Given the description of an element on the screen output the (x, y) to click on. 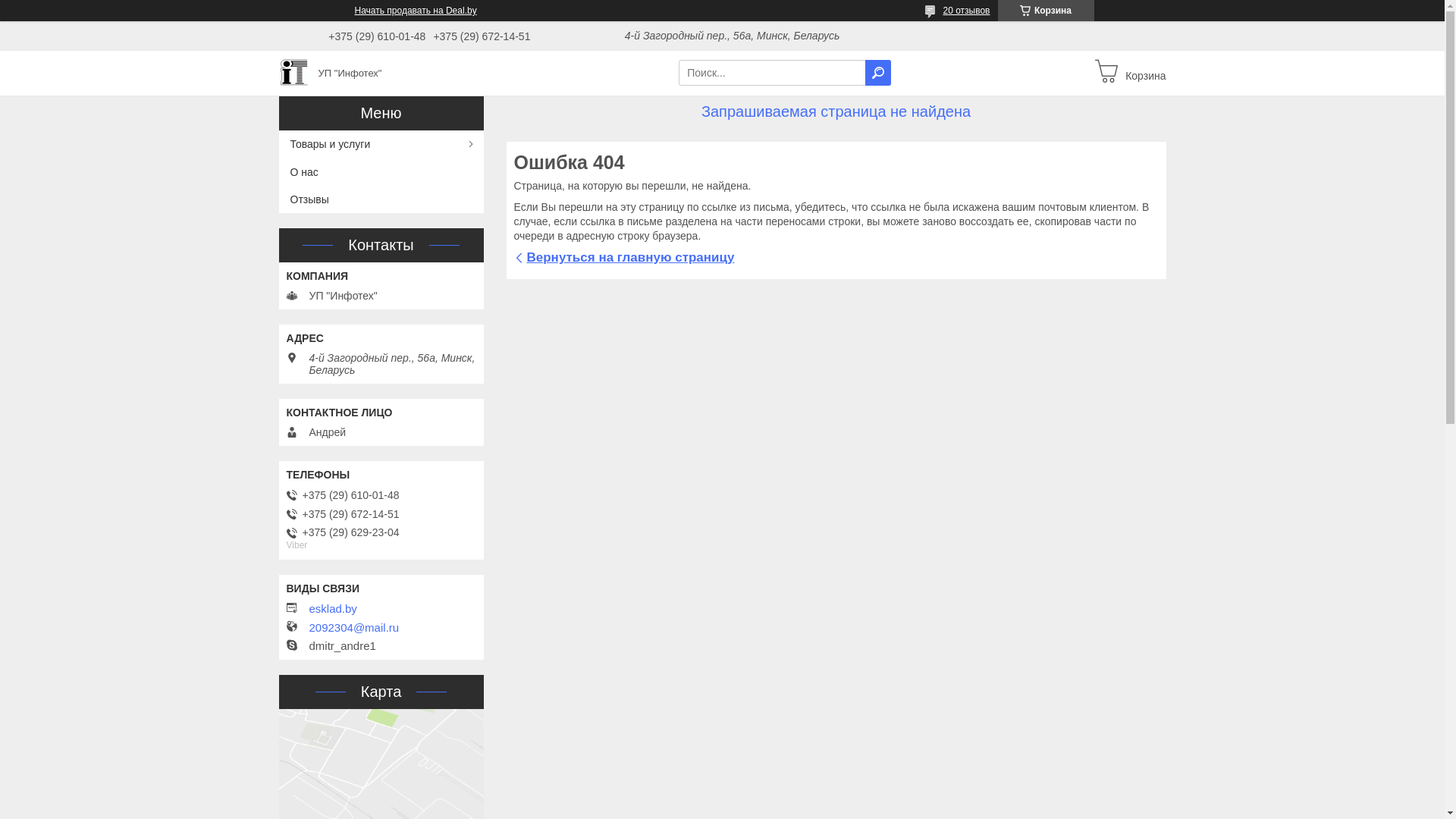
esklad.by Element type: text (385, 608)
2092304@mail.ru Element type: text (354, 627)
